Given the description of an element on the screen output the (x, y) to click on. 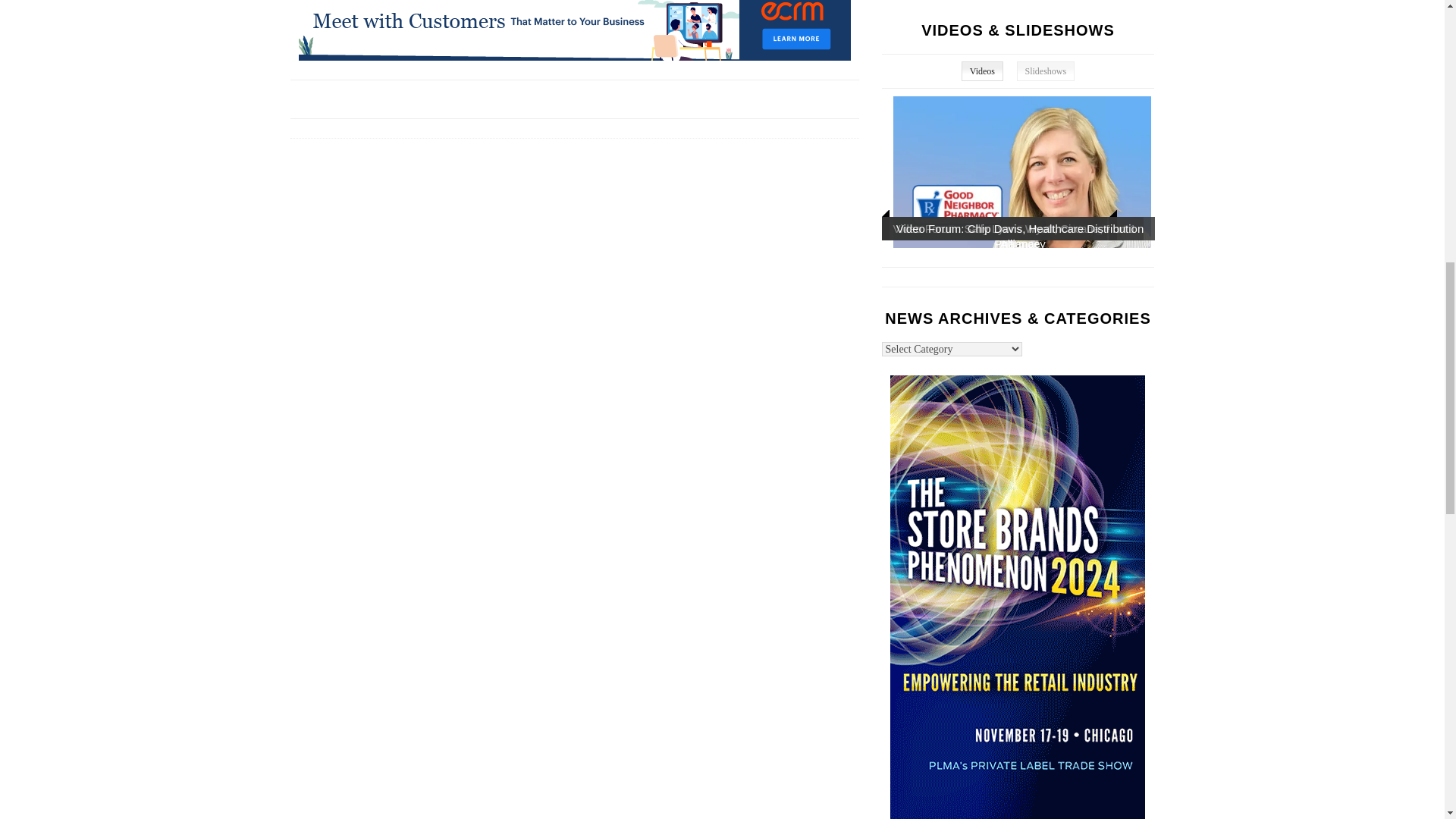
Permalink to Video Forum: Sally Lyons Wyatt, Circana (996, 228)
Permalink to Video Forum: Sally Lyons Wyatt, Circana, Part 1 (1015, 228)
Video Forum: Sally Lyons Wyatt, Circana (1022, 323)
Video Forum: Jenni Zilka, Good Neighbor Pharmacy (1022, 172)
